Given the description of an element on the screen output the (x, y) to click on. 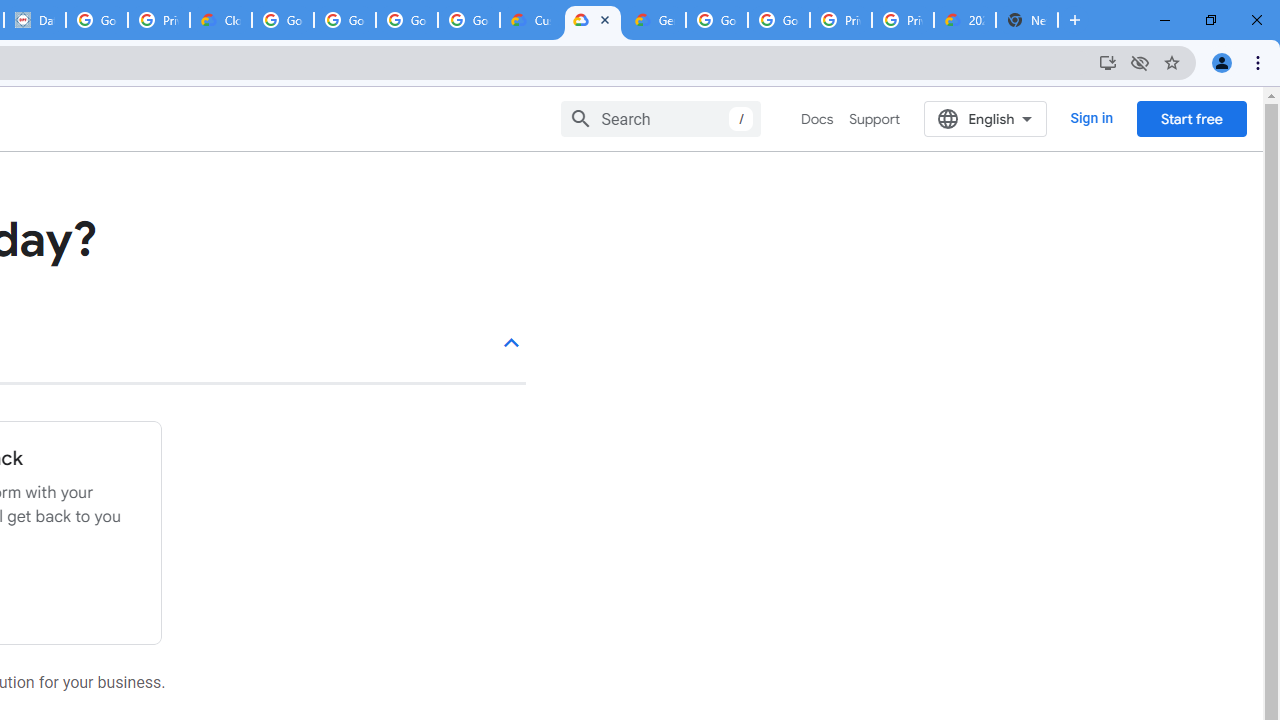
Google Cloud Platform (716, 20)
